Given the description of an element on the screen output the (x, y) to click on. 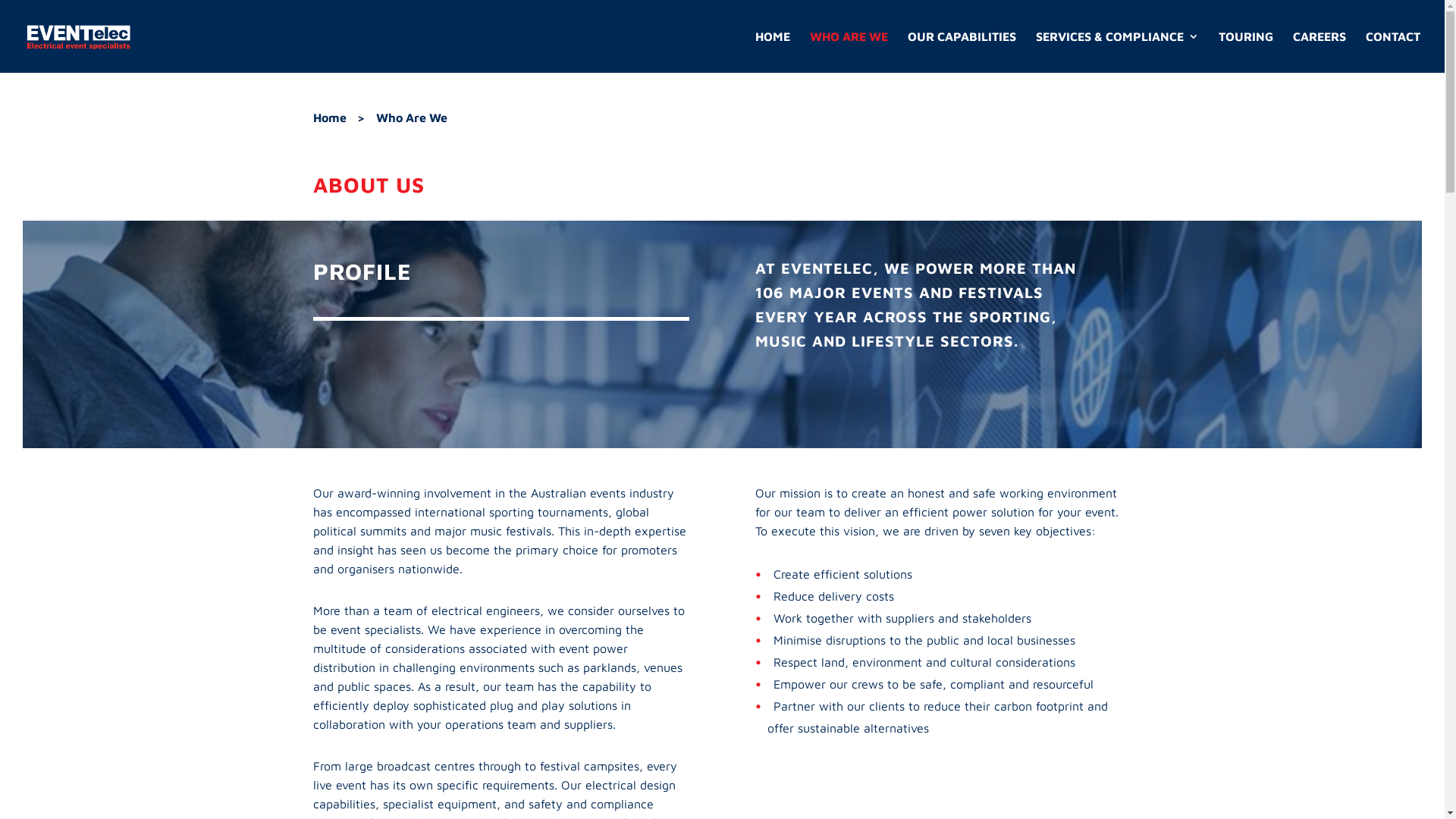
TOURING Element type: text (1245, 51)
WHO ARE WE Element type: text (848, 51)
OUR CAPABILITIES Element type: text (961, 51)
CAREERS Element type: text (1319, 51)
SERVICES & COMPLIANCE Element type: text (1116, 51)
Home Element type: text (328, 117)
HOME Element type: text (772, 51)
CONTACT Element type: text (1392, 51)
